Given the description of an element on the screen output the (x, y) to click on. 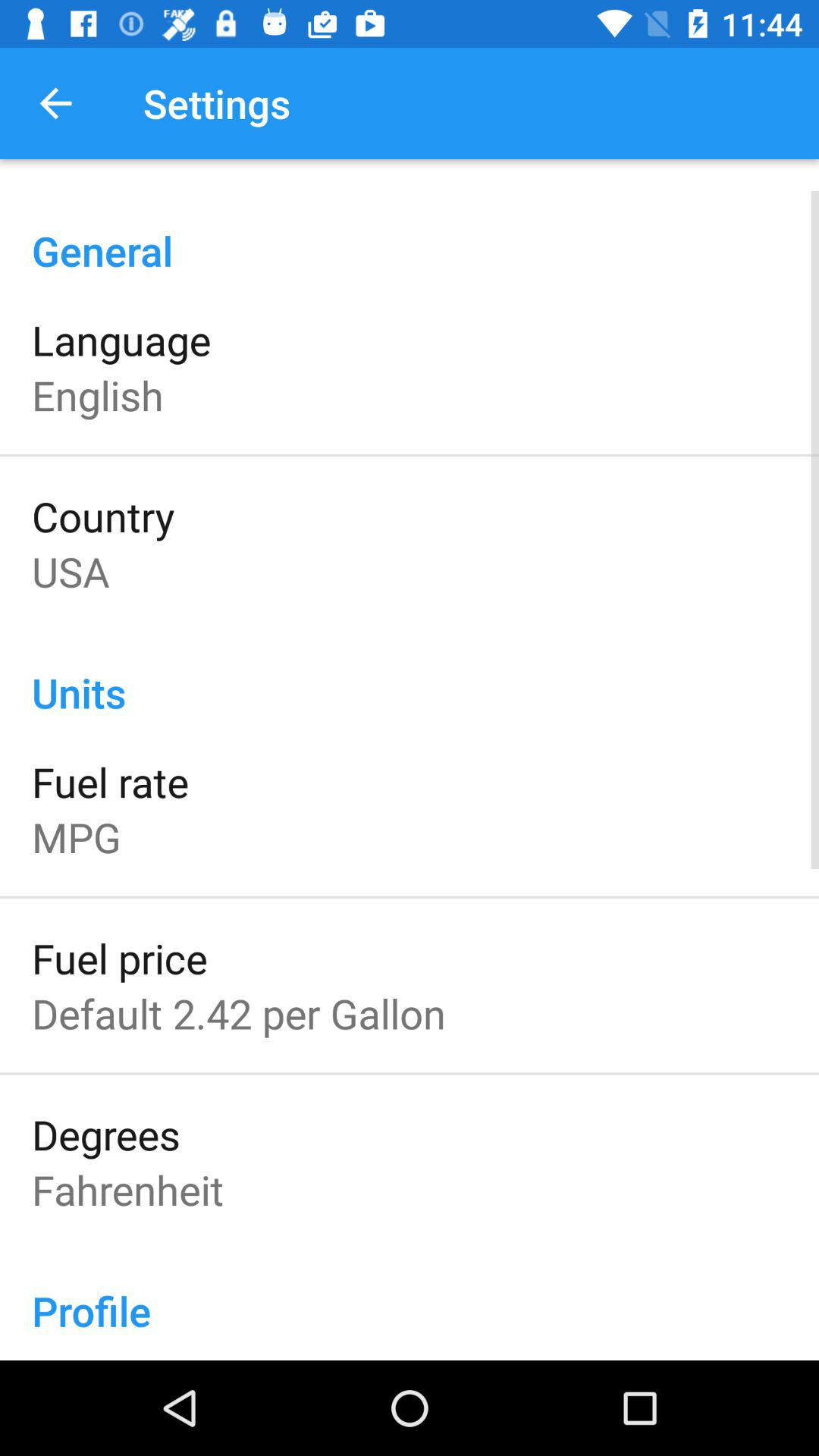
open the item above the fahrenheit (105, 1133)
